Given the description of an element on the screen output the (x, y) to click on. 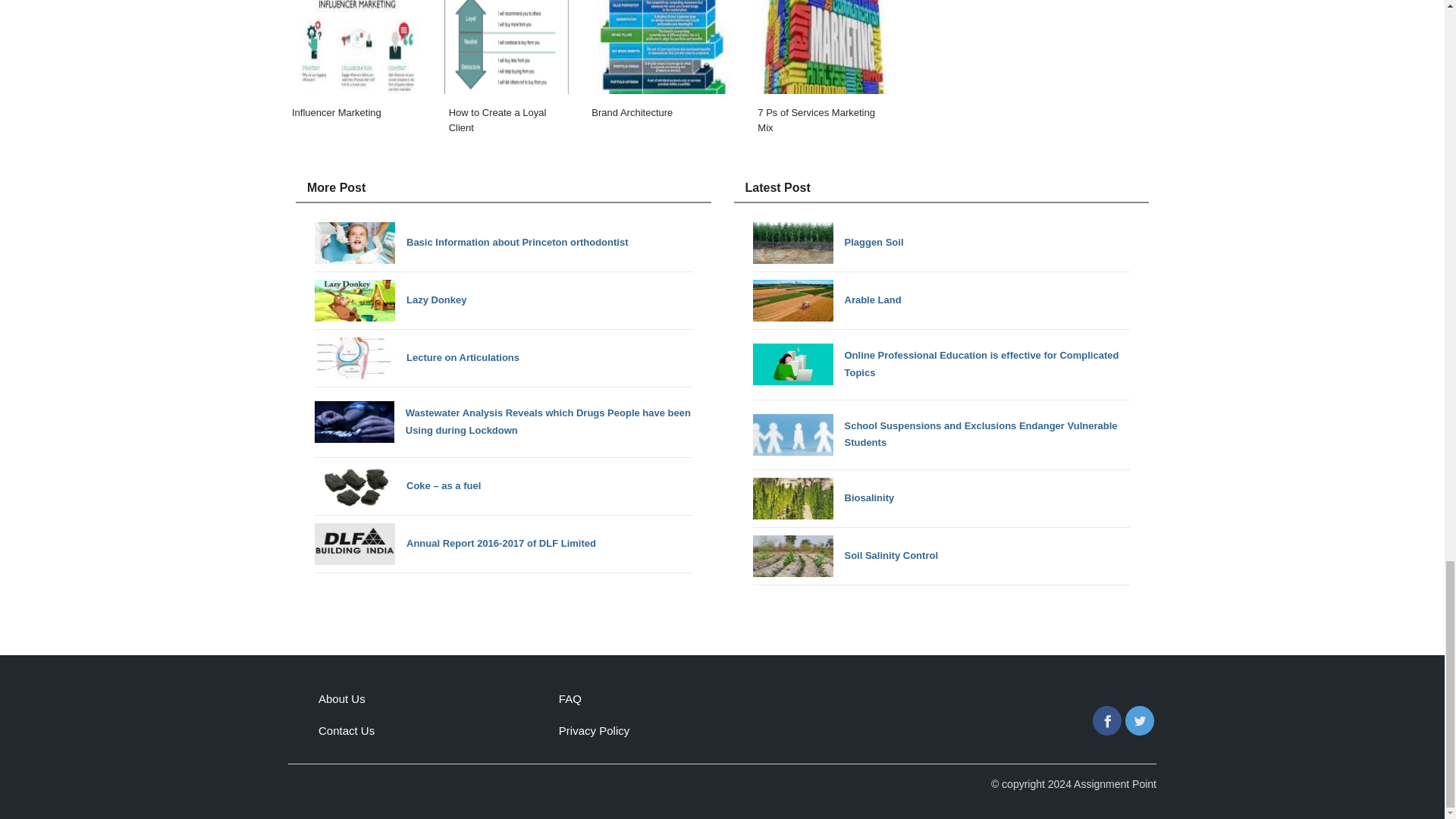
Lazy Donkey (389, 300)
Plaggen Soil (827, 242)
Arable Land (826, 300)
Soil Salinity Control (844, 556)
Basic Information about Princeton orthodontist (471, 242)
Brand Architecture (660, 72)
Biosalinity (822, 498)
Lecture on Articulations (416, 358)
Influencer Marketing (356, 72)
7 Ps of Services Marketing Mix (822, 72)
How to Create a Loyal Client (506, 72)
Annual Report 2016-2017 of DLF Limited (454, 543)
